Given the description of an element on the screen output the (x, y) to click on. 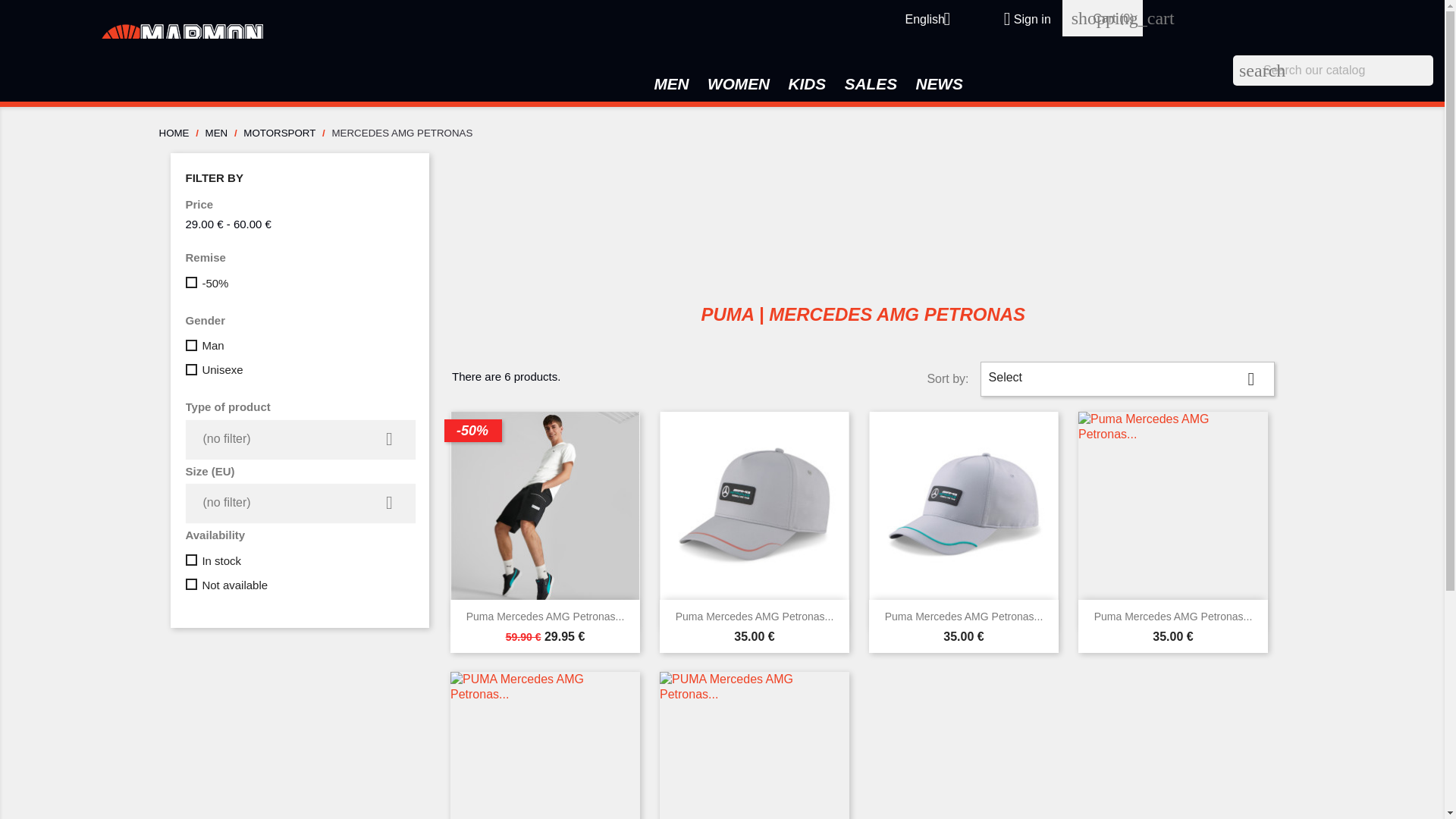
MEN (670, 87)
Log in to your customer account (1020, 19)
